Given the description of an element on the screen output the (x, y) to click on. 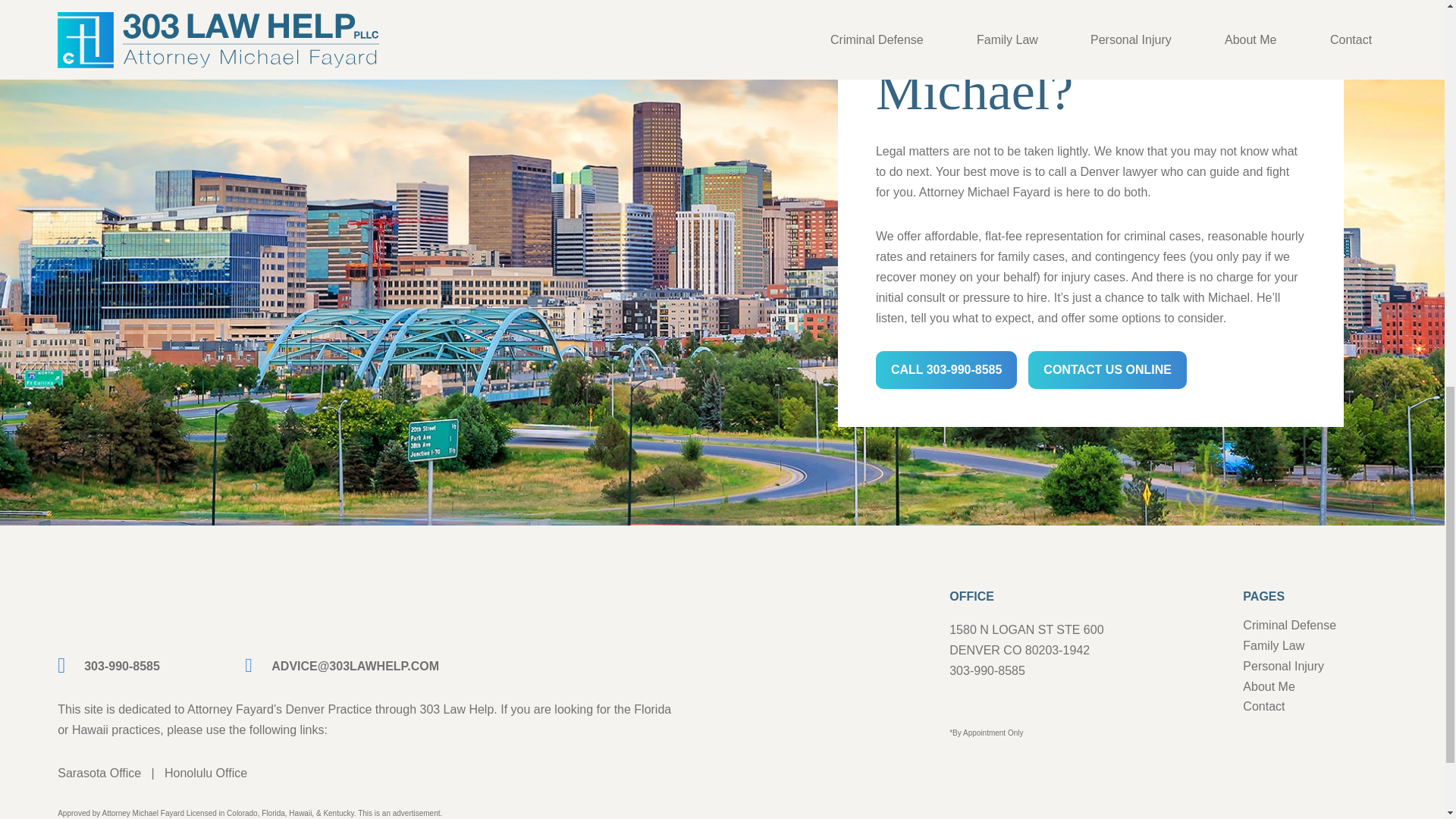
Our Honolulu Office (205, 772)
CALL 303-990-8585 (946, 370)
Personal Injury (1283, 666)
Sarasota Office (99, 772)
Family Law (1273, 645)
CONTACT US ONLINE (1106, 370)
Criminal Defense (1289, 625)
About Me (1268, 686)
303-990-8585 (109, 666)
Our Sarasota Office (99, 772)
